Given the description of an element on the screen output the (x, y) to click on. 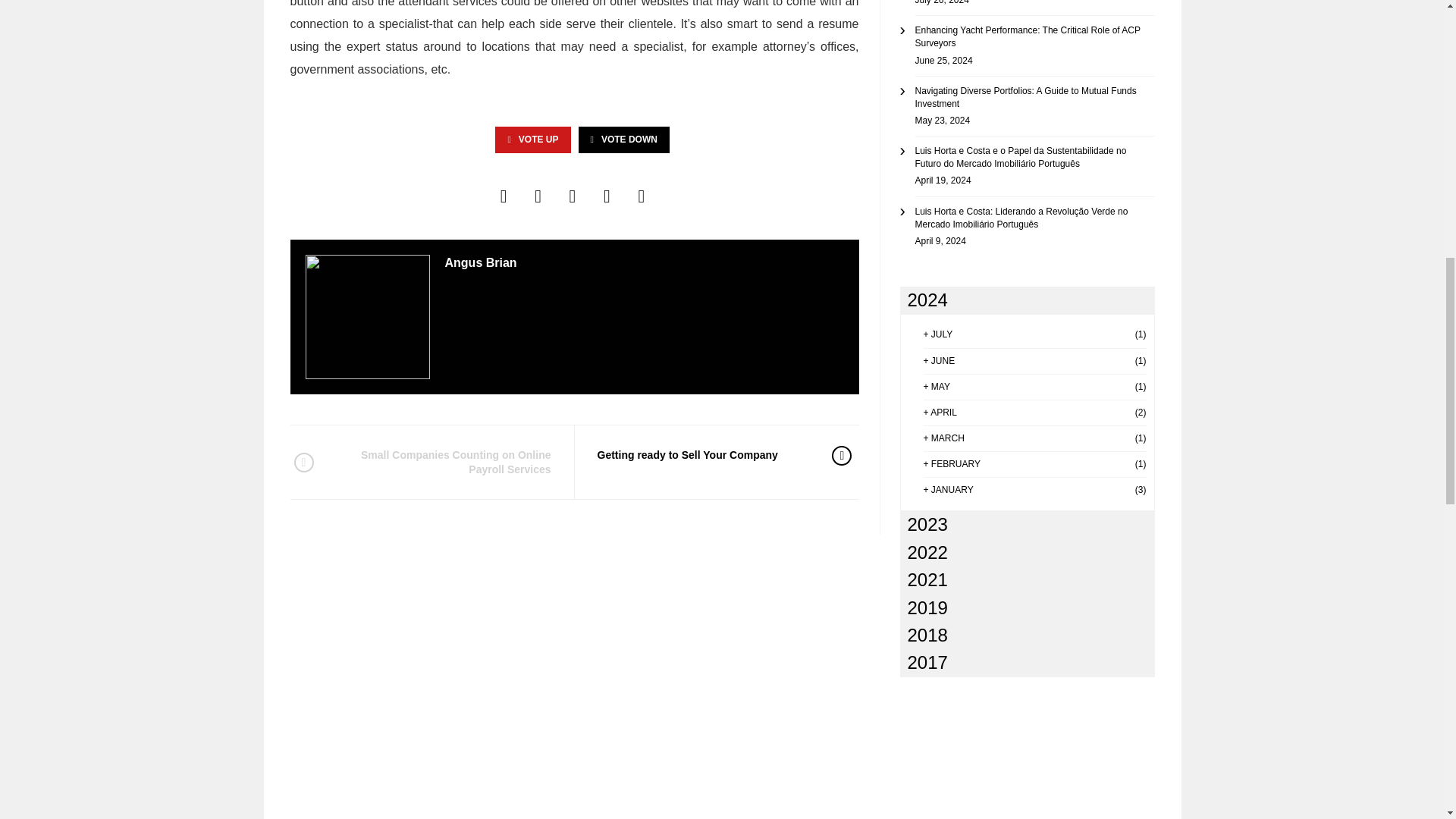
Getting ready to Sell Your Company (702, 454)
Angus Brian (480, 262)
VOTE UP (532, 139)
Small Companies Counting on Online Payroll Services (442, 461)
VOTE DOWN (623, 139)
